Given the description of an element on the screen output the (x, y) to click on. 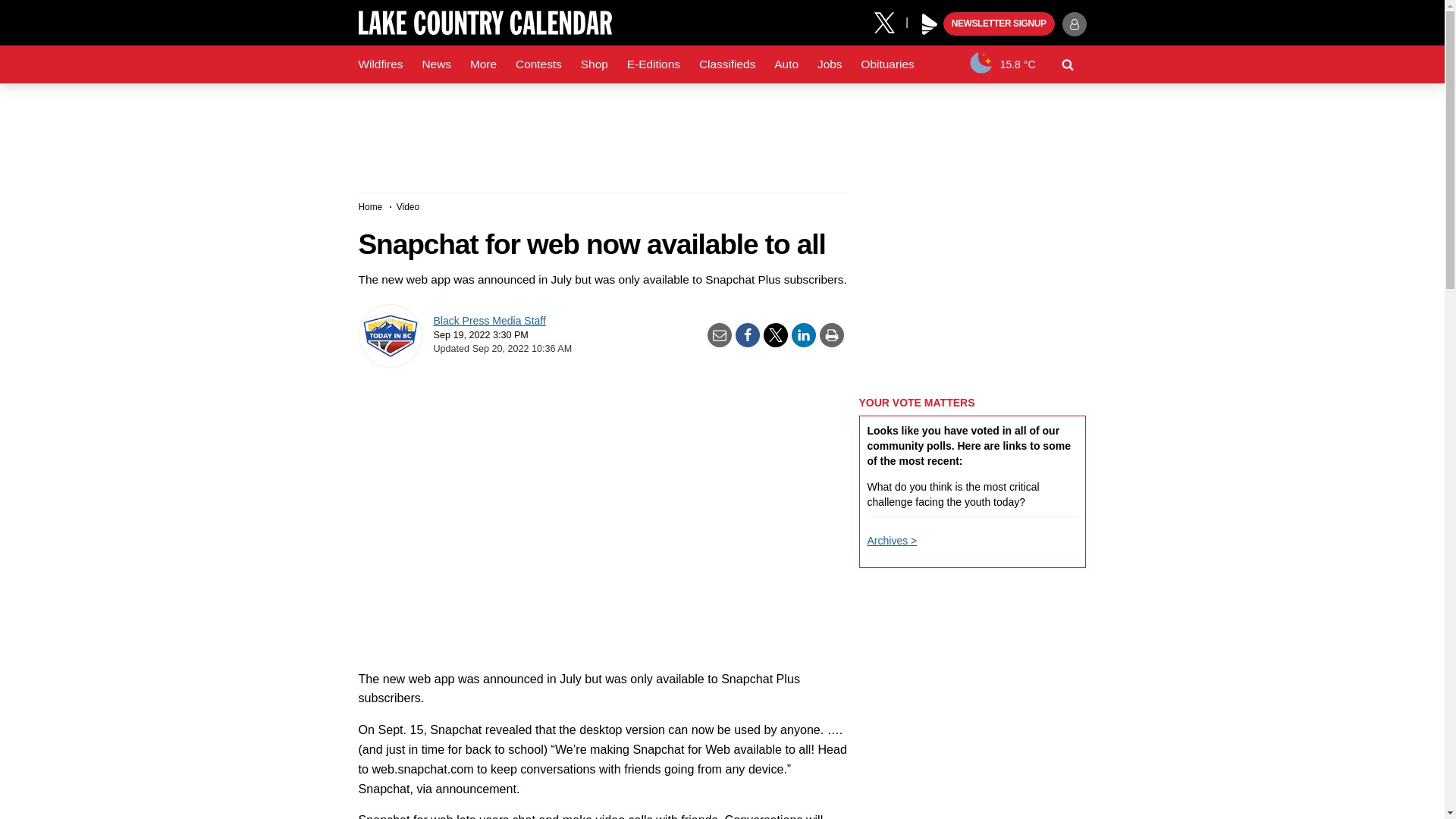
Play (929, 24)
News (435, 64)
NEWSLETTER SIGNUP (998, 24)
Wildfires (380, 64)
X (889, 21)
Black Press Media (929, 24)
